Given the description of an element on the screen output the (x, y) to click on. 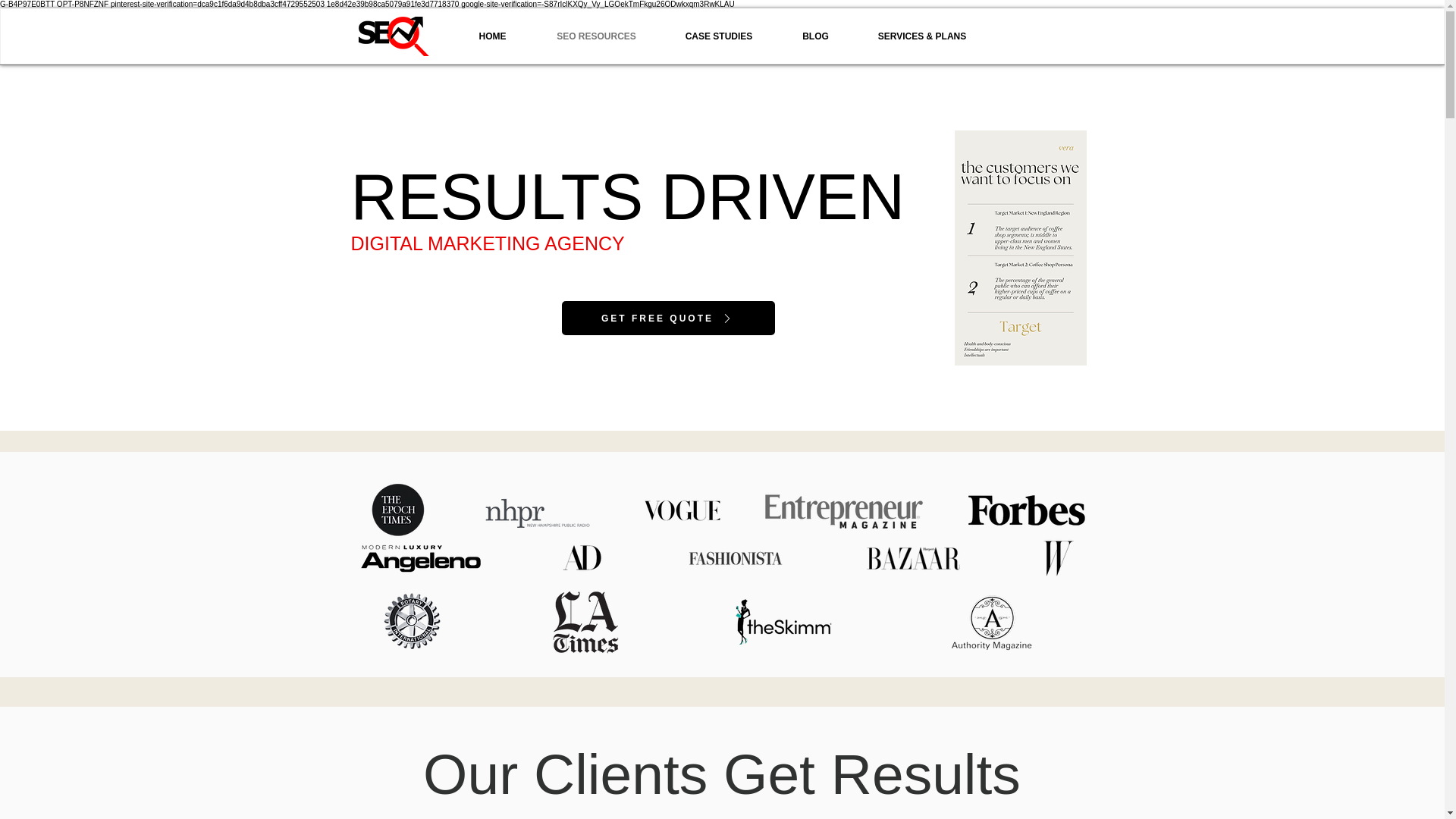
BLOG (814, 36)
putnam marketing logo (392, 36)
CASE STUDIES (719, 36)
SEO RESOURCES (596, 36)
GET FREE QUOTE (667, 317)
HOME (492, 36)
